Given the description of an element on the screen output the (x, y) to click on. 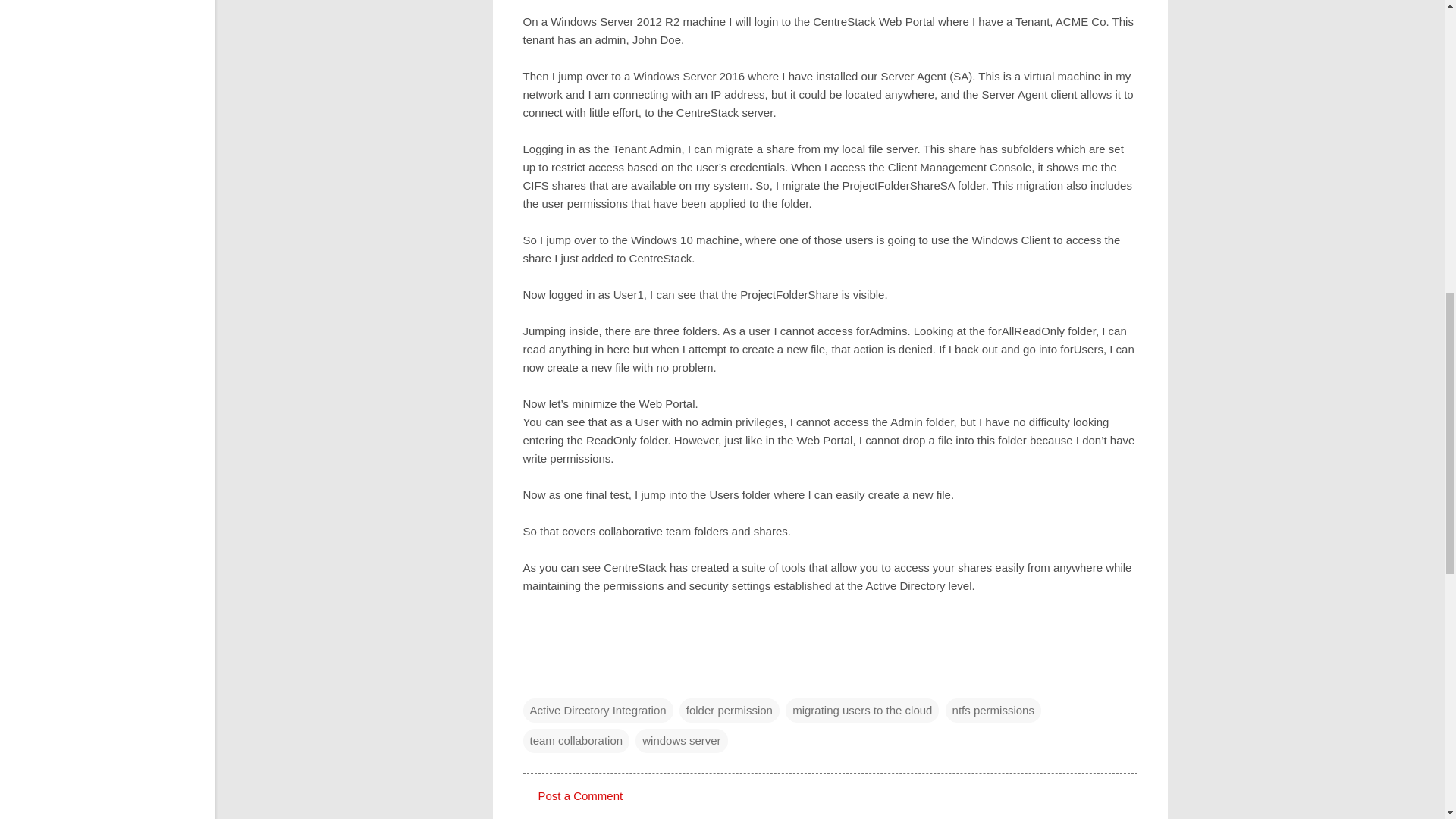
windows server (680, 740)
migrating users to the cloud (862, 709)
team collaboration (576, 740)
folder permission (728, 709)
Post a Comment (580, 795)
ntfs permissions (992, 709)
Active Directory Integration (597, 709)
Email Post (531, 679)
